Given the description of an element on the screen output the (x, y) to click on. 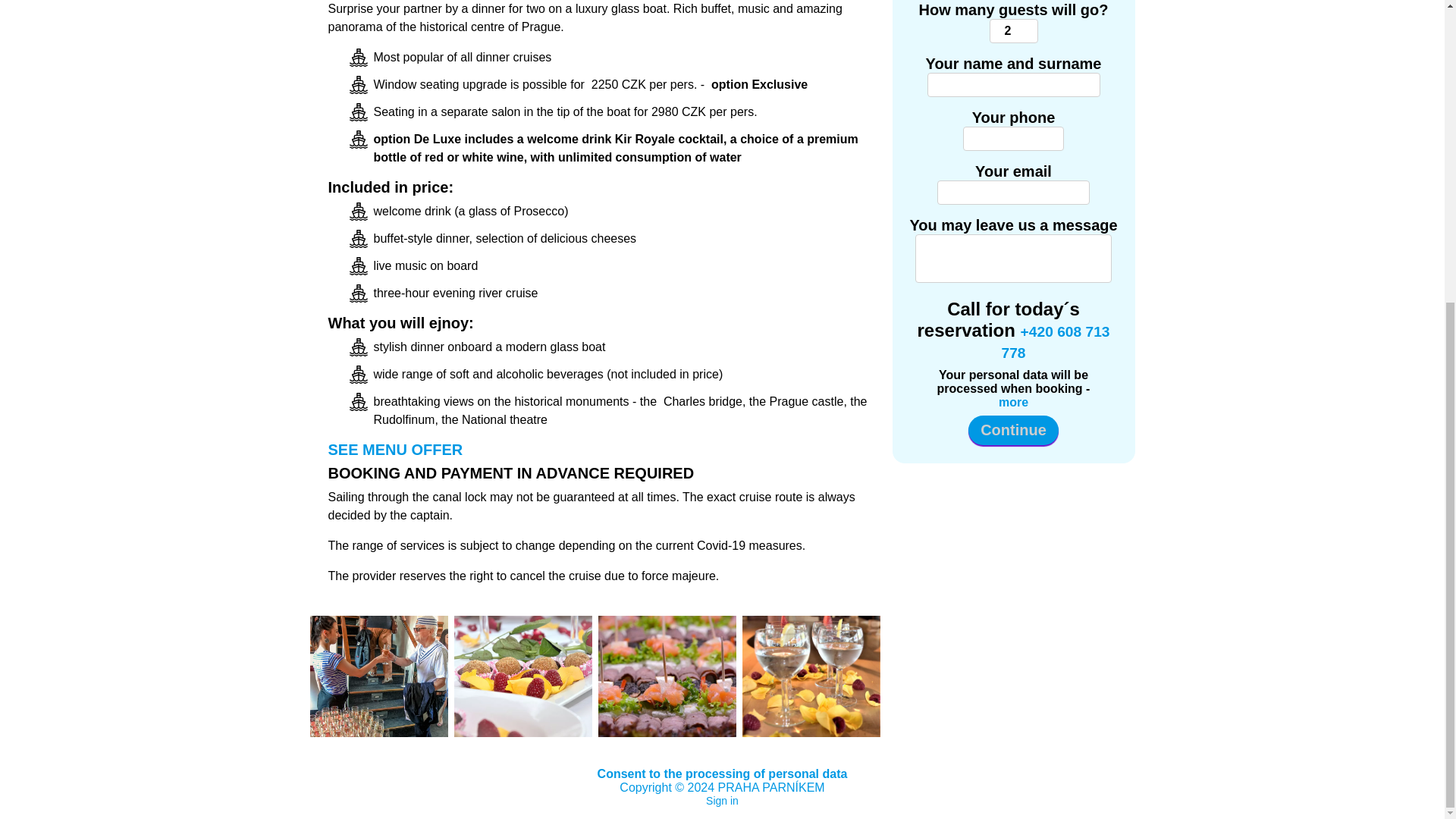
2 (1012, 30)
SEE MENU OFFER (395, 449)
Continue (1013, 430)
